Given the description of an element on the screen output the (x, y) to click on. 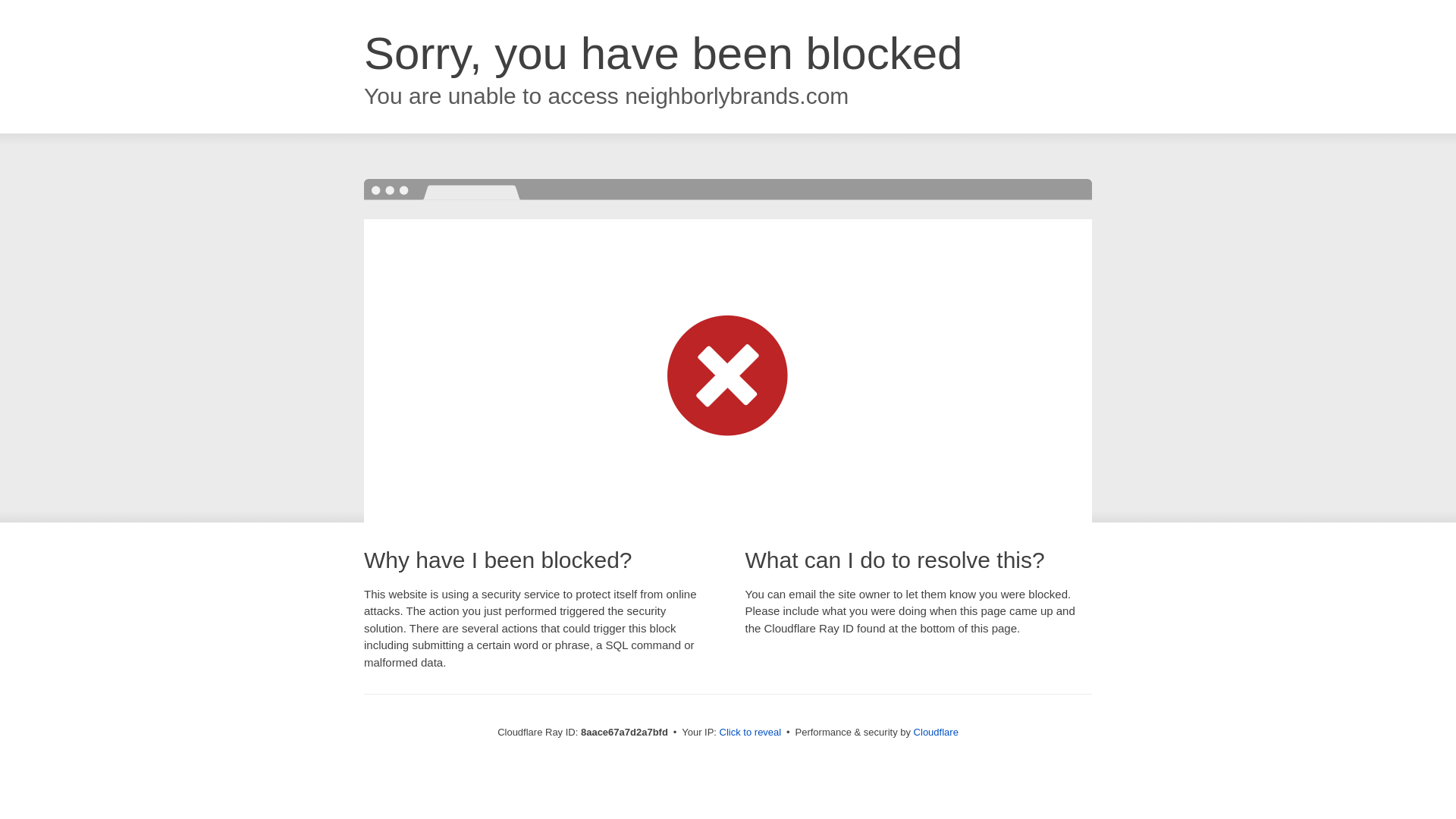
Cloudflare (936, 731)
Click to reveal (750, 732)
